Given the description of an element on the screen output the (x, y) to click on. 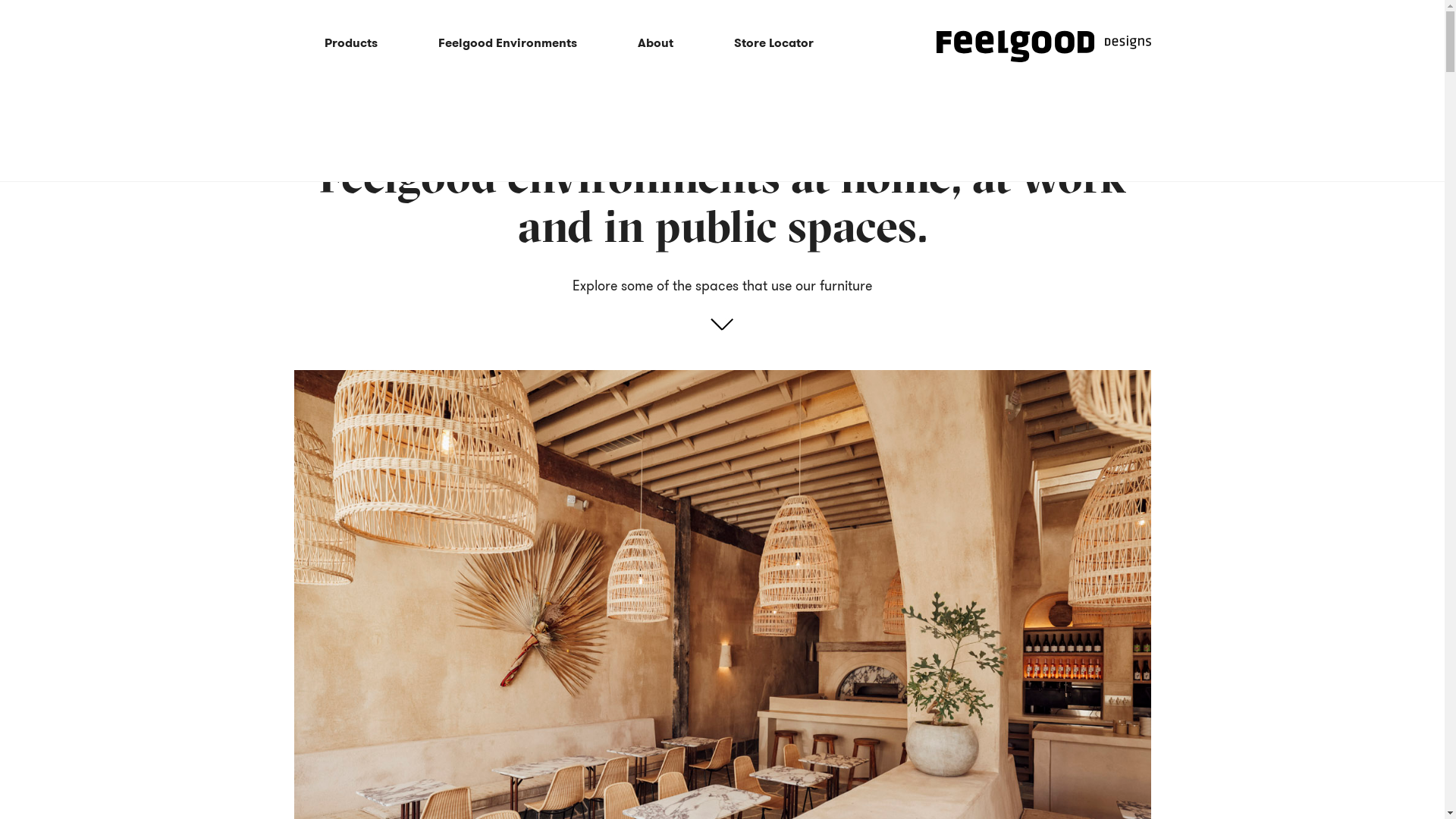
Store Locator Element type: text (773, 43)
Products Element type: text (350, 43)
Feelgood Environments Element type: text (507, 43)
About Element type: text (654, 43)
